Given the description of an element on the screen output the (x, y) to click on. 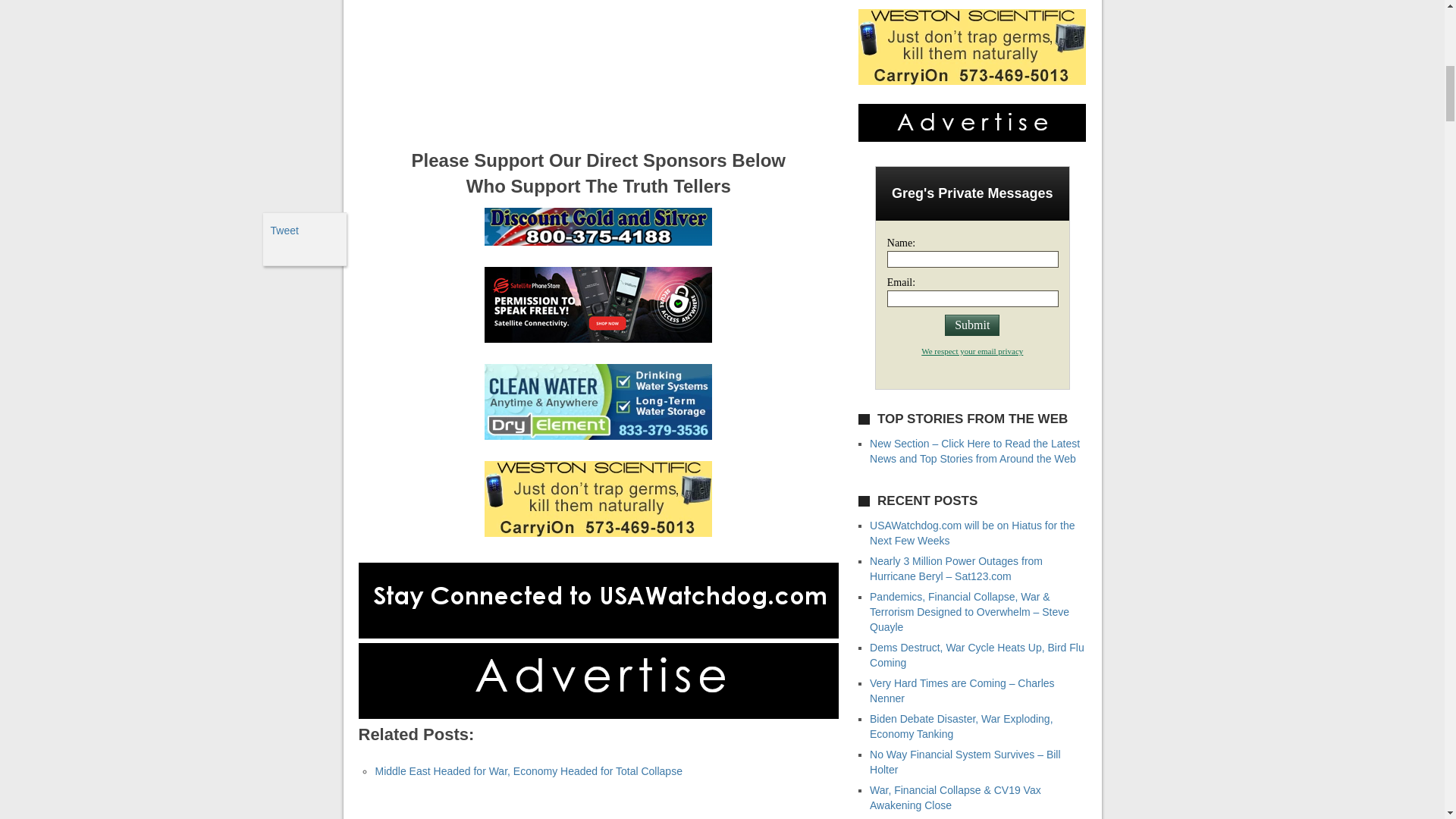
Satellite Phone Store (597, 338)
Visit Dry Element (597, 435)
Advertise Here (598, 715)
Discount Gold and Silver Trading Free Report (597, 241)
Submit (971, 324)
Visit Weston Scientific (597, 532)
Stay Connected (598, 634)
